Given the description of an element on the screen output the (x, y) to click on. 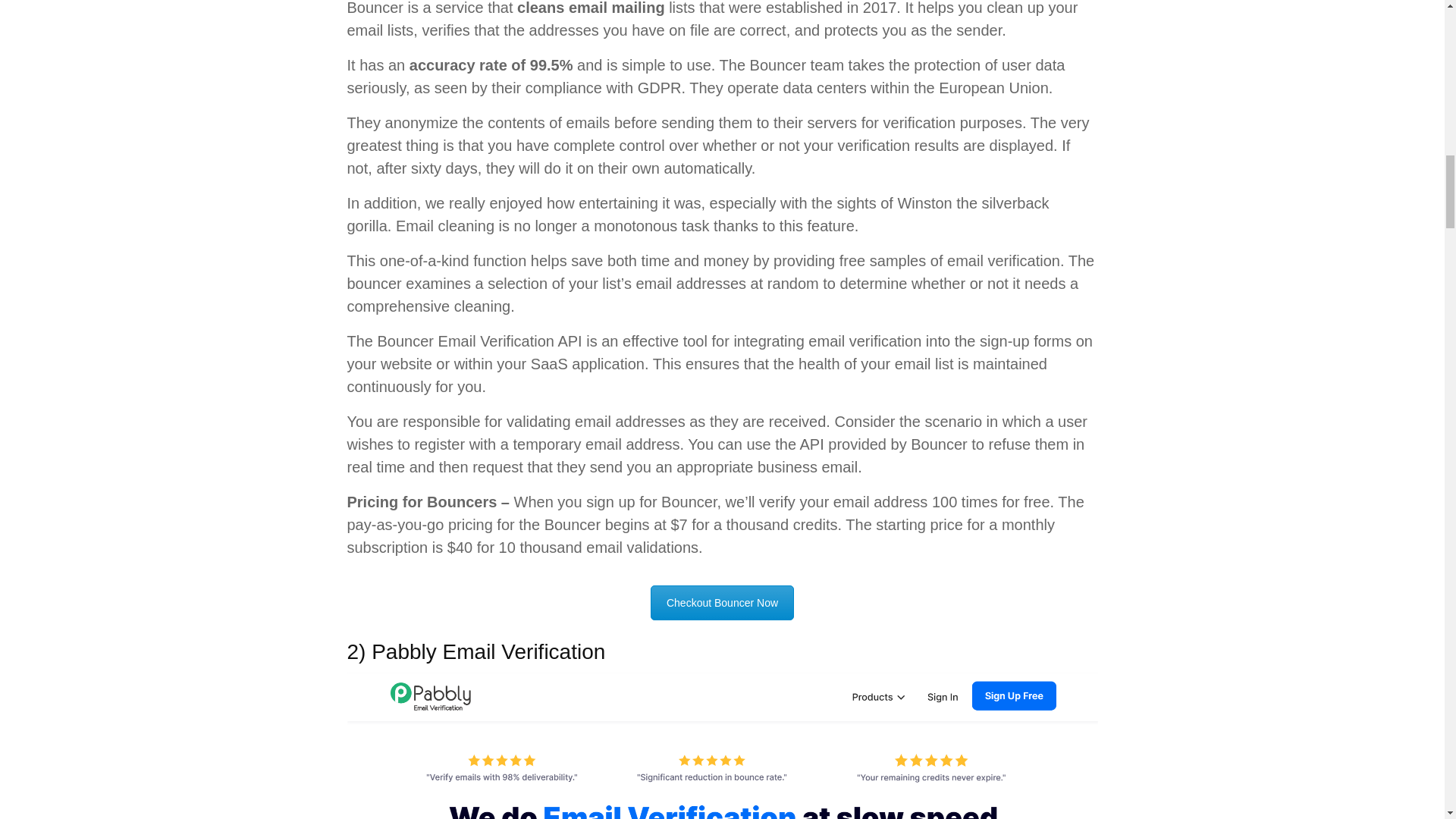
Checkout Bouncer Now (721, 602)
